Given the description of an element on the screen output the (x, y) to click on. 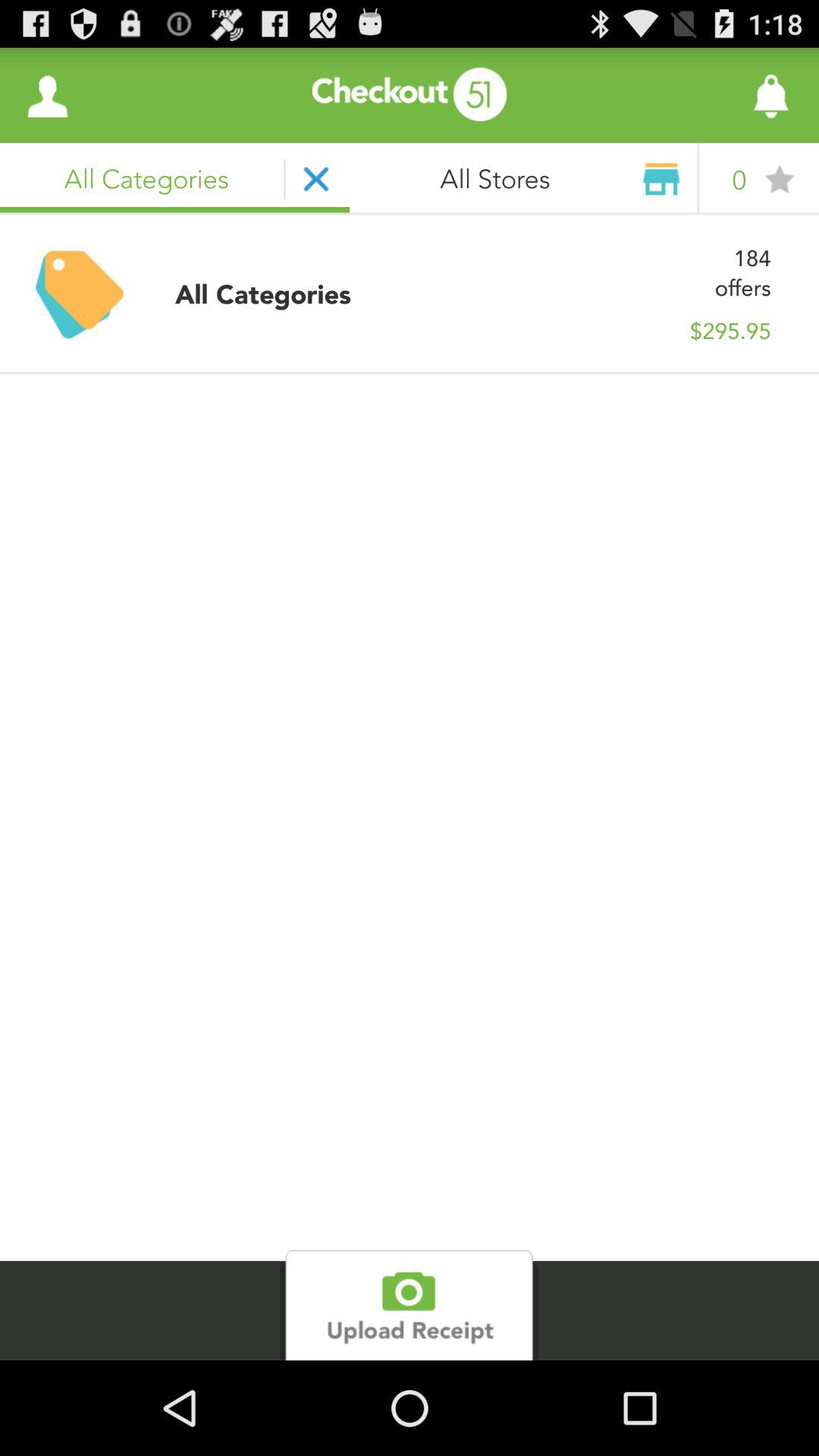
launch the item next to all stores item (729, 95)
